Given the description of an element on the screen output the (x, y) to click on. 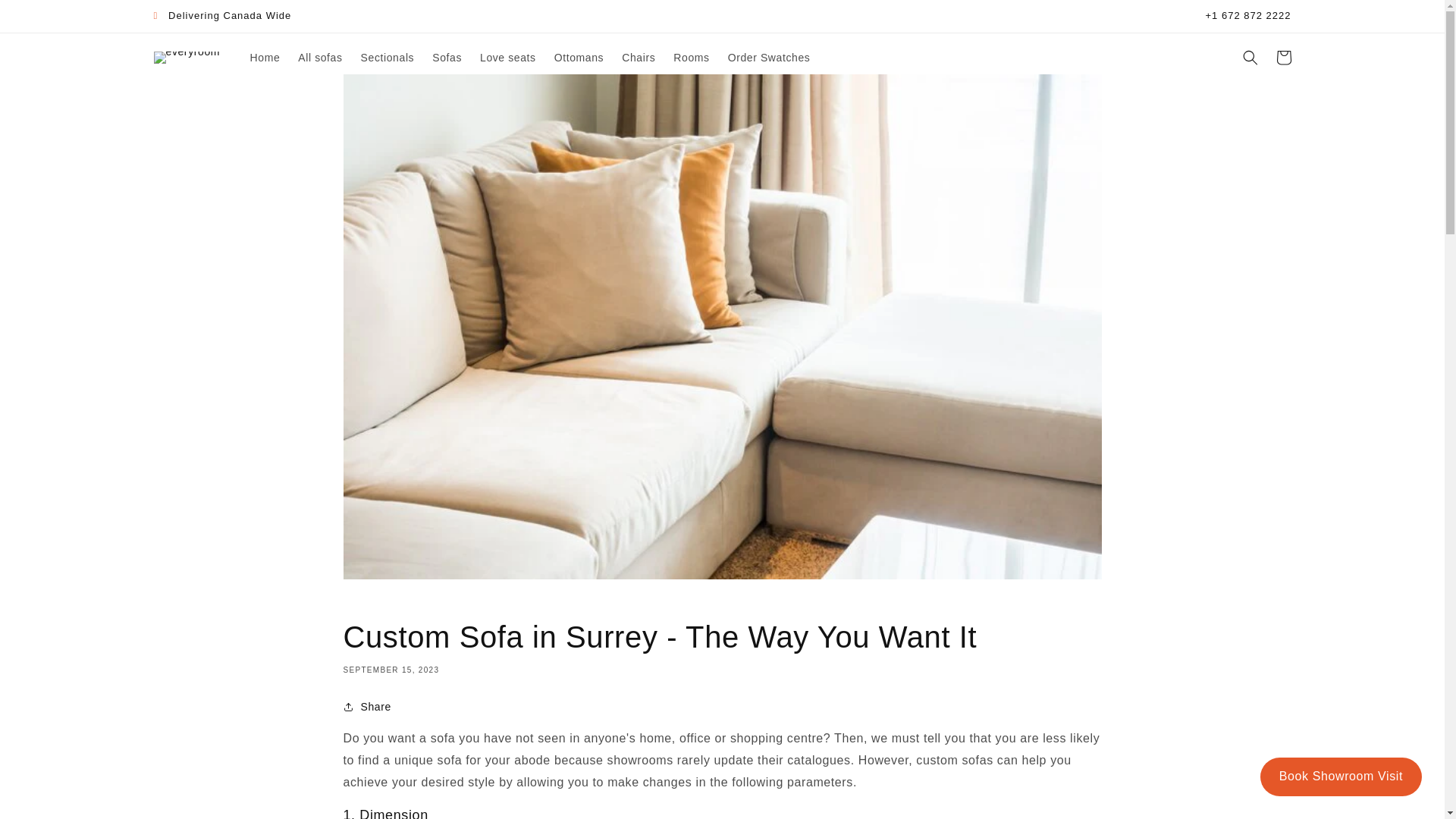
Order Swatches (769, 57)
Cart (1283, 57)
Skip to content (45, 17)
Rooms (690, 57)
All sofas (319, 57)
Home (265, 57)
Ottomans (578, 57)
Chairs (637, 57)
Sectionals (387, 57)
Love seats (507, 57)
Sofas (446, 57)
